Given the description of an element on the screen output the (x, y) to click on. 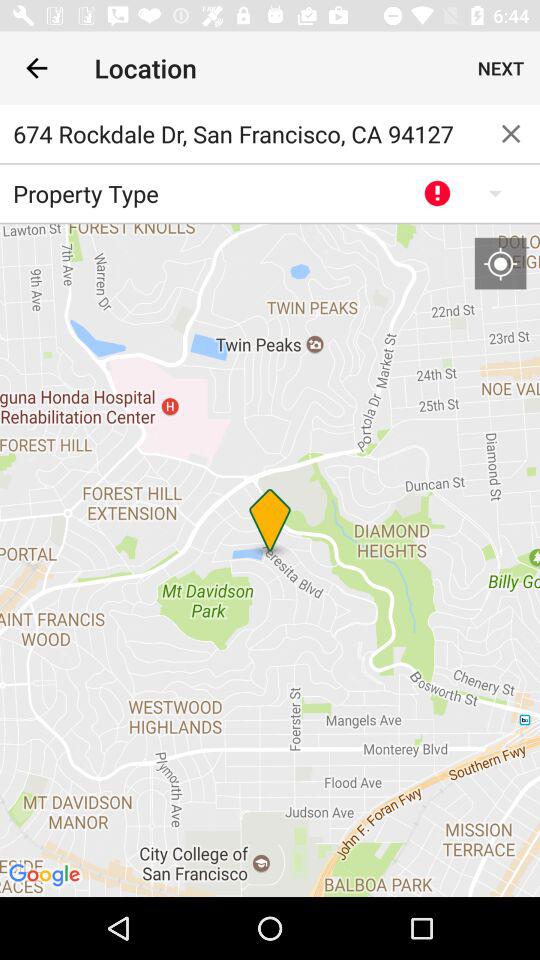
open the icon above the 674 rockdale dr (36, 68)
